Given the description of an element on the screen output the (x, y) to click on. 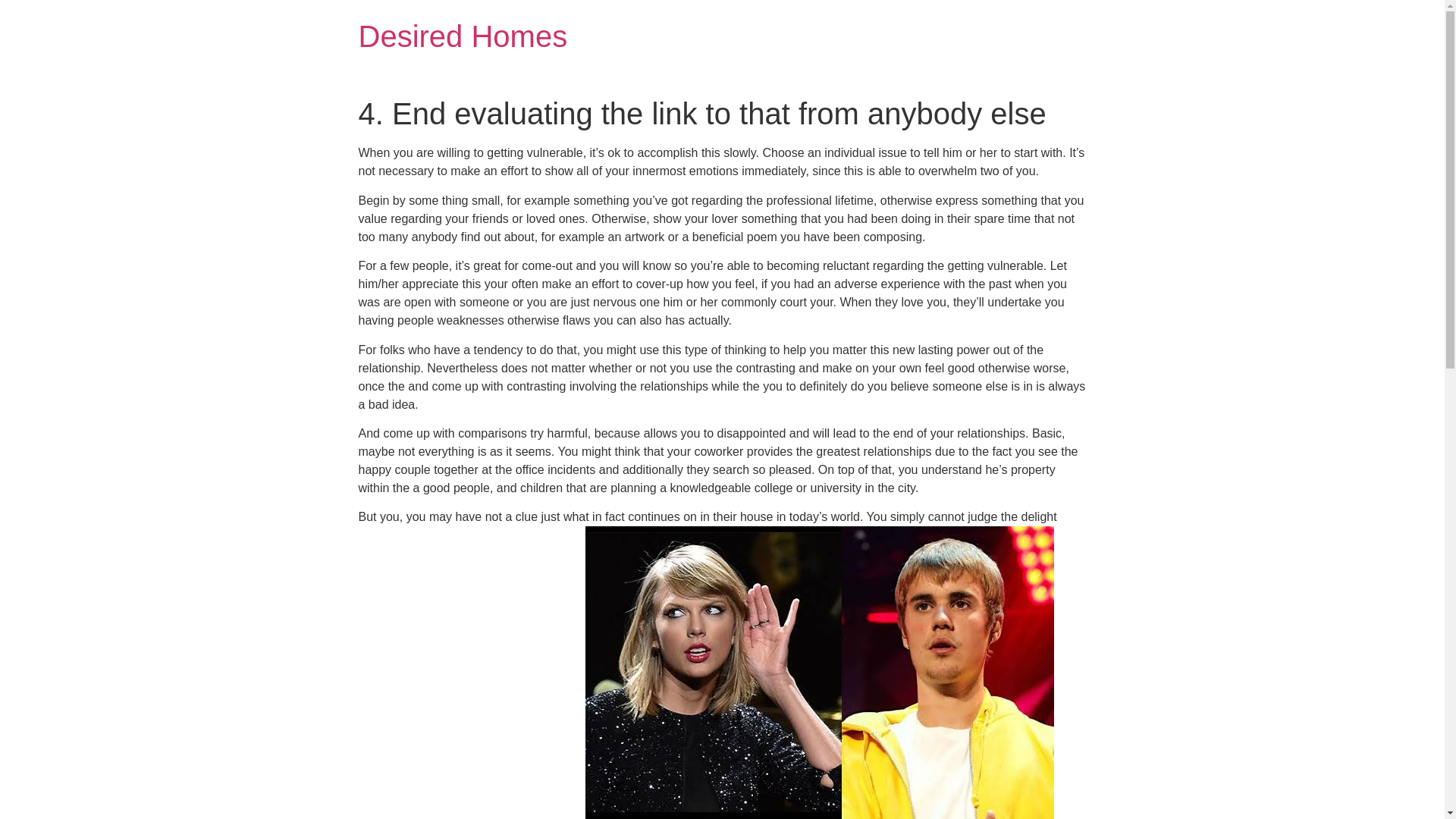
Desired Homes (462, 36)
Home (462, 36)
